Given the description of an element on the screen output the (x, y) to click on. 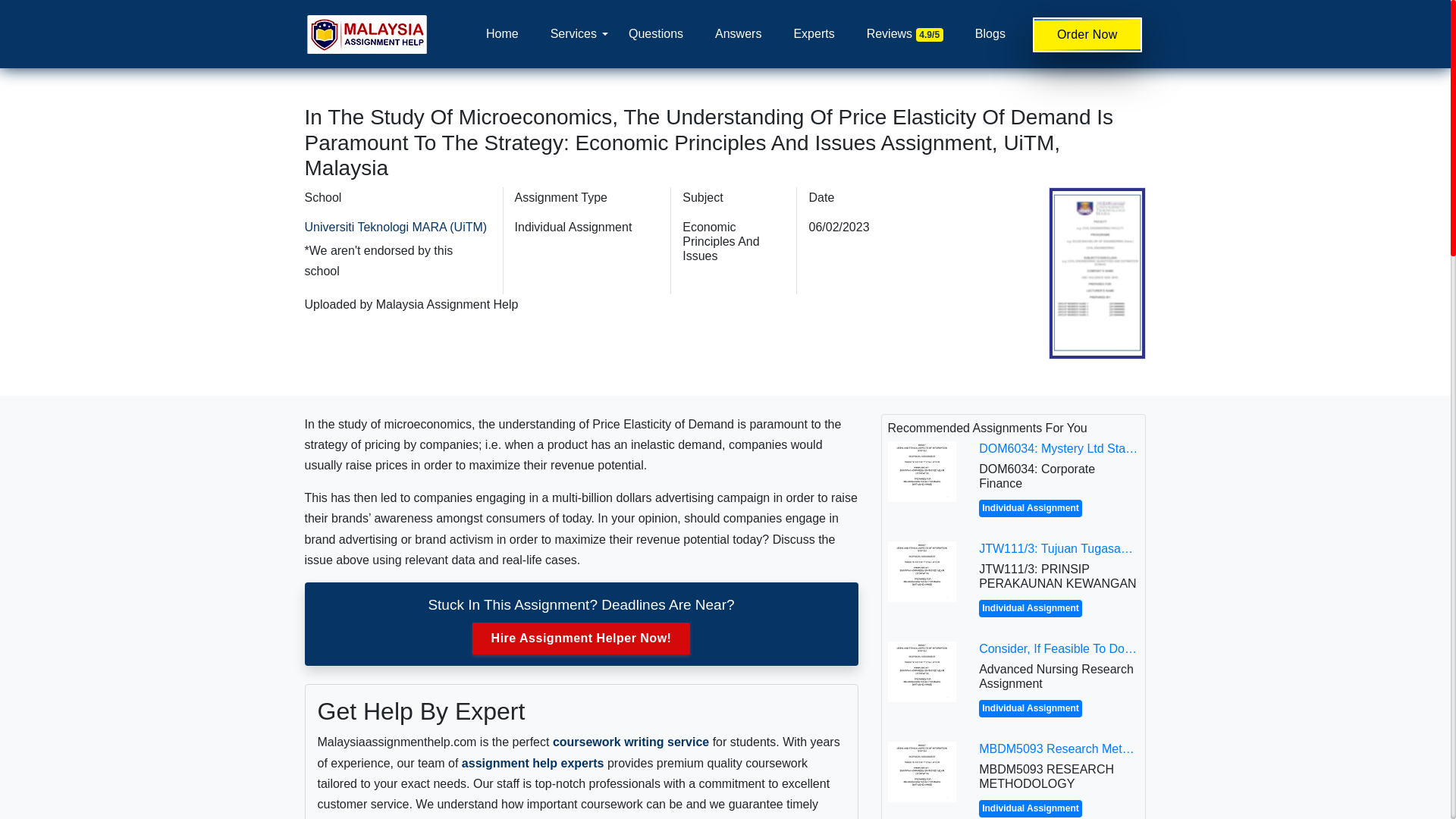
Hire Assignment Helper Now! (580, 638)
coursework writing service (631, 741)
Home (501, 33)
Answers (738, 33)
Services (573, 33)
Experts (813, 33)
Order Now (1086, 34)
Blogs (989, 33)
Questions (655, 33)
assignment help experts (532, 762)
